Given the description of an element on the screen output the (x, y) to click on. 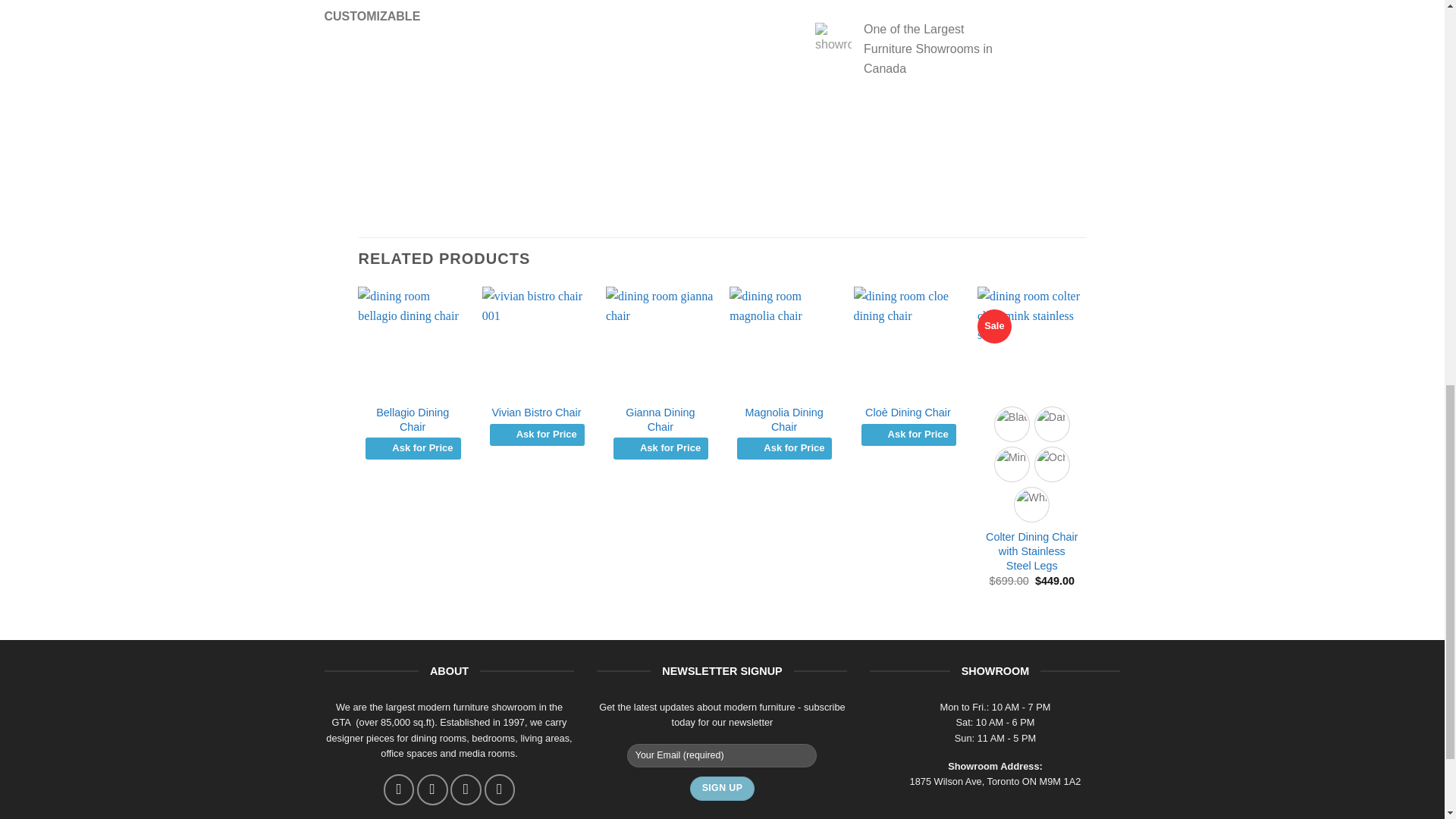
Sign Up (722, 788)
